Given the description of an element on the screen output the (x, y) to click on. 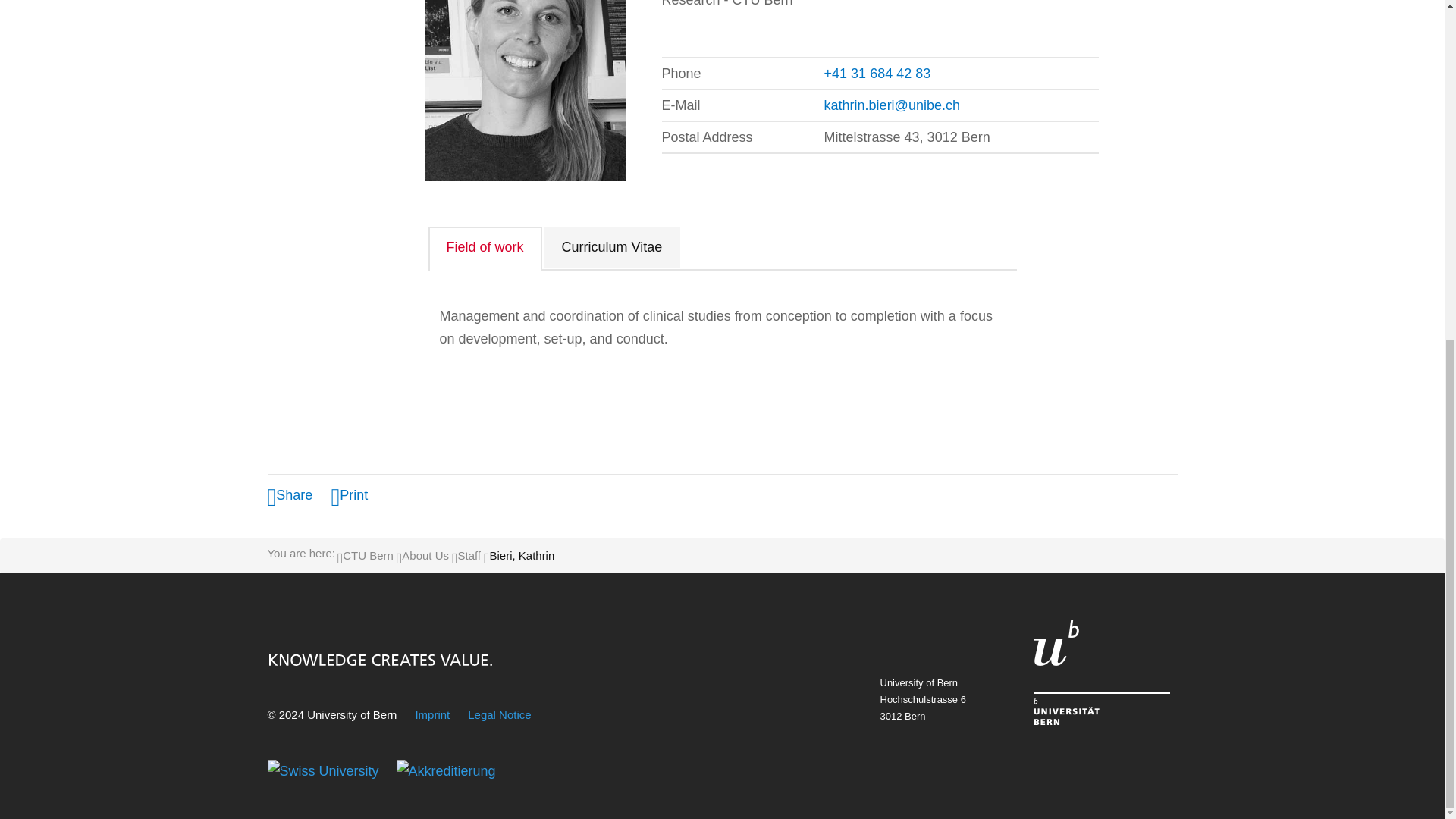
Field of work (484, 248)
About Us (424, 554)
Print (349, 494)
Share (289, 494)
CTU Bern (367, 554)
Curriculum Vitae (612, 246)
Staff (468, 554)
